Given the description of an element on the screen output the (x, y) to click on. 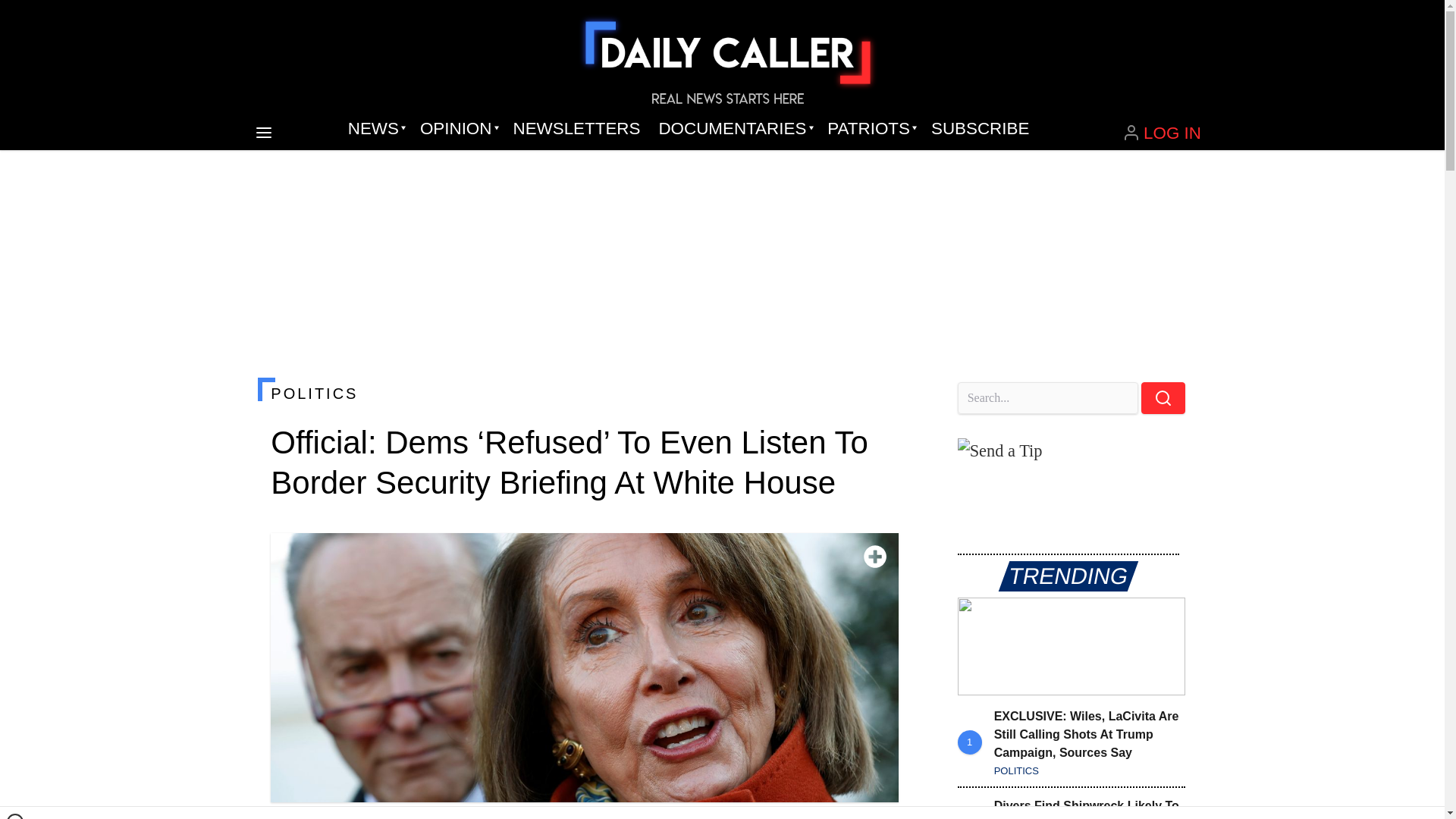
NEWSLETTERS (576, 128)
NEWS (374, 128)
SUBSCRIBE (979, 128)
Toggle fullscreen (874, 556)
DOCUMENTARIES (733, 128)
Close window (14, 816)
PATRIOTS (869, 128)
OPINION (456, 128)
